Given the description of an element on the screen output the (x, y) to click on. 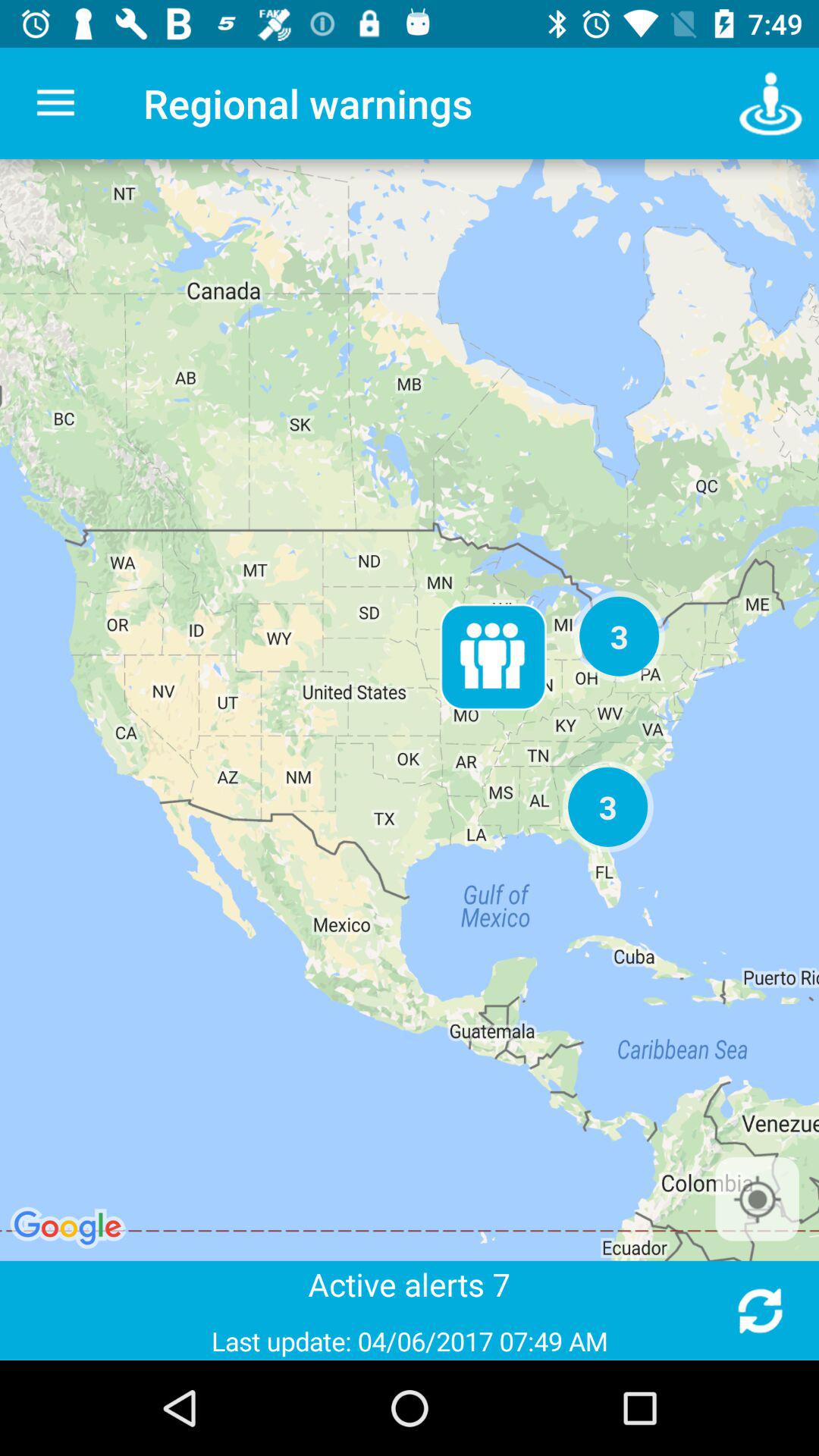
click to refresh (760, 1310)
